Given the description of an element on the screen output the (x, y) to click on. 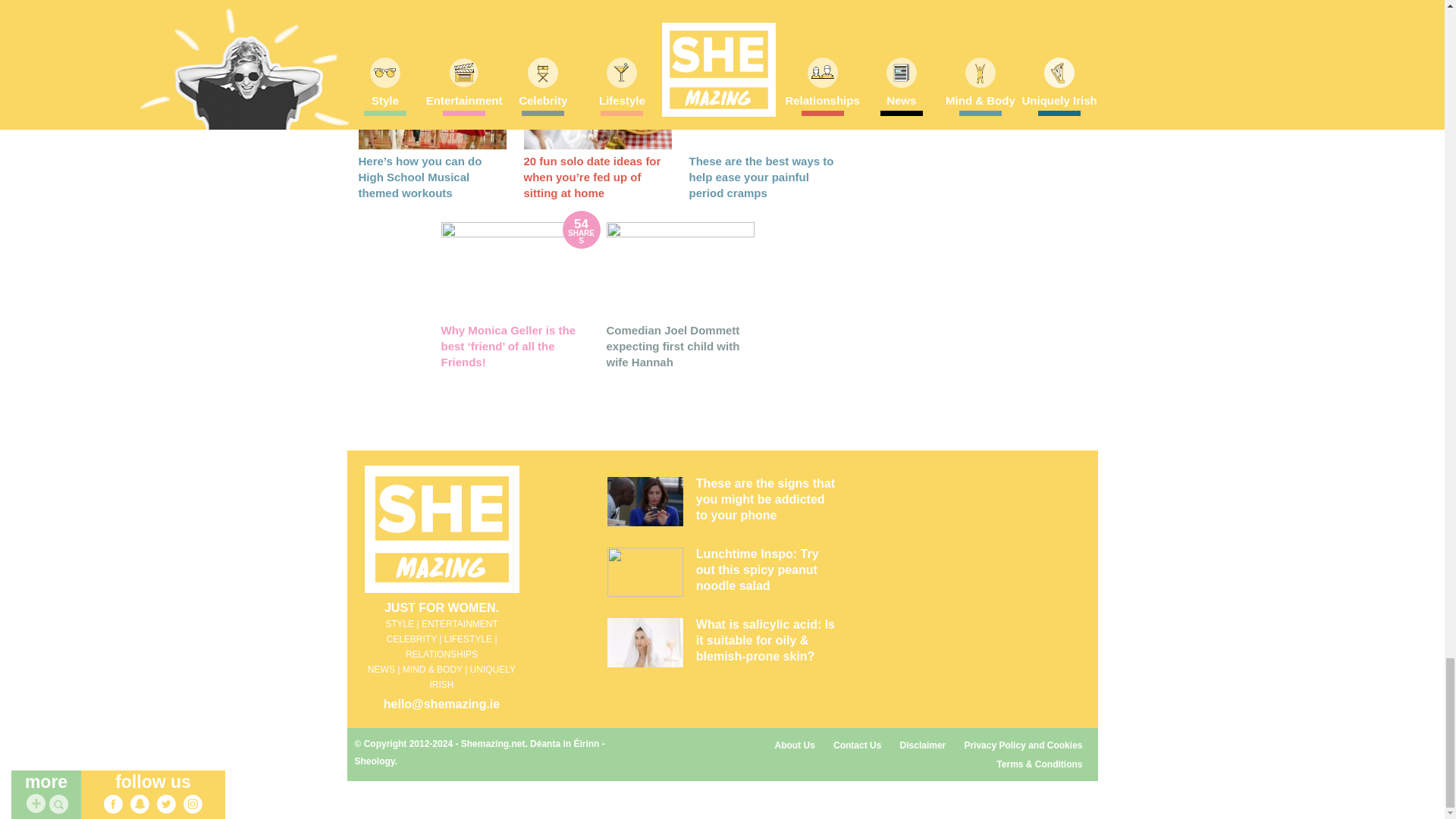
Comedian Joel Dommett expecting first child with wife Hannah (680, 269)
Comedian Joel Dommett expecting first child with wife Hannah (673, 345)
